Given the description of an element on the screen output the (x, y) to click on. 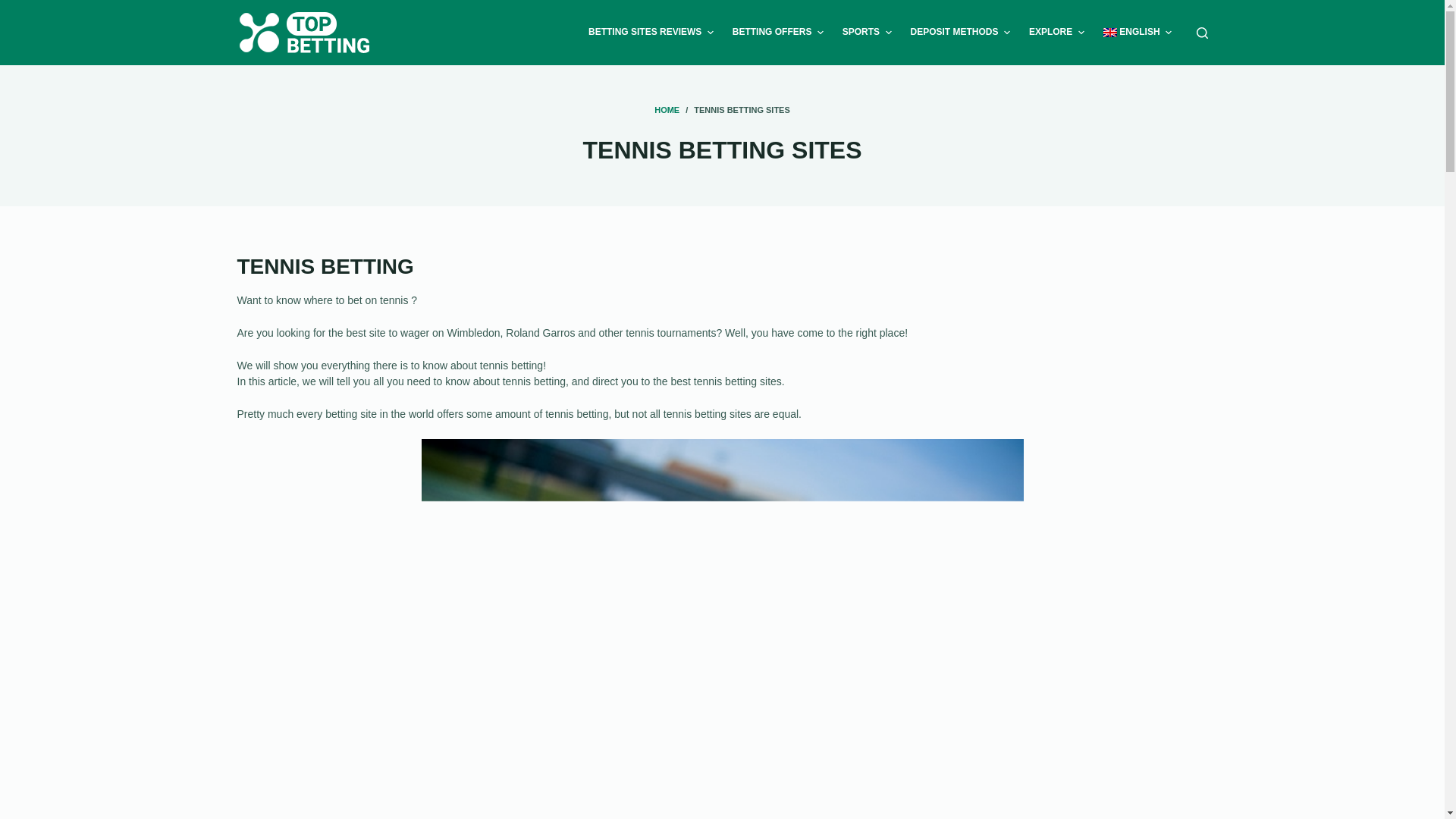
English (1136, 32)
Tennis Betting Sites (722, 149)
Skip to content (15, 7)
